Given the description of an element on the screen output the (x, y) to click on. 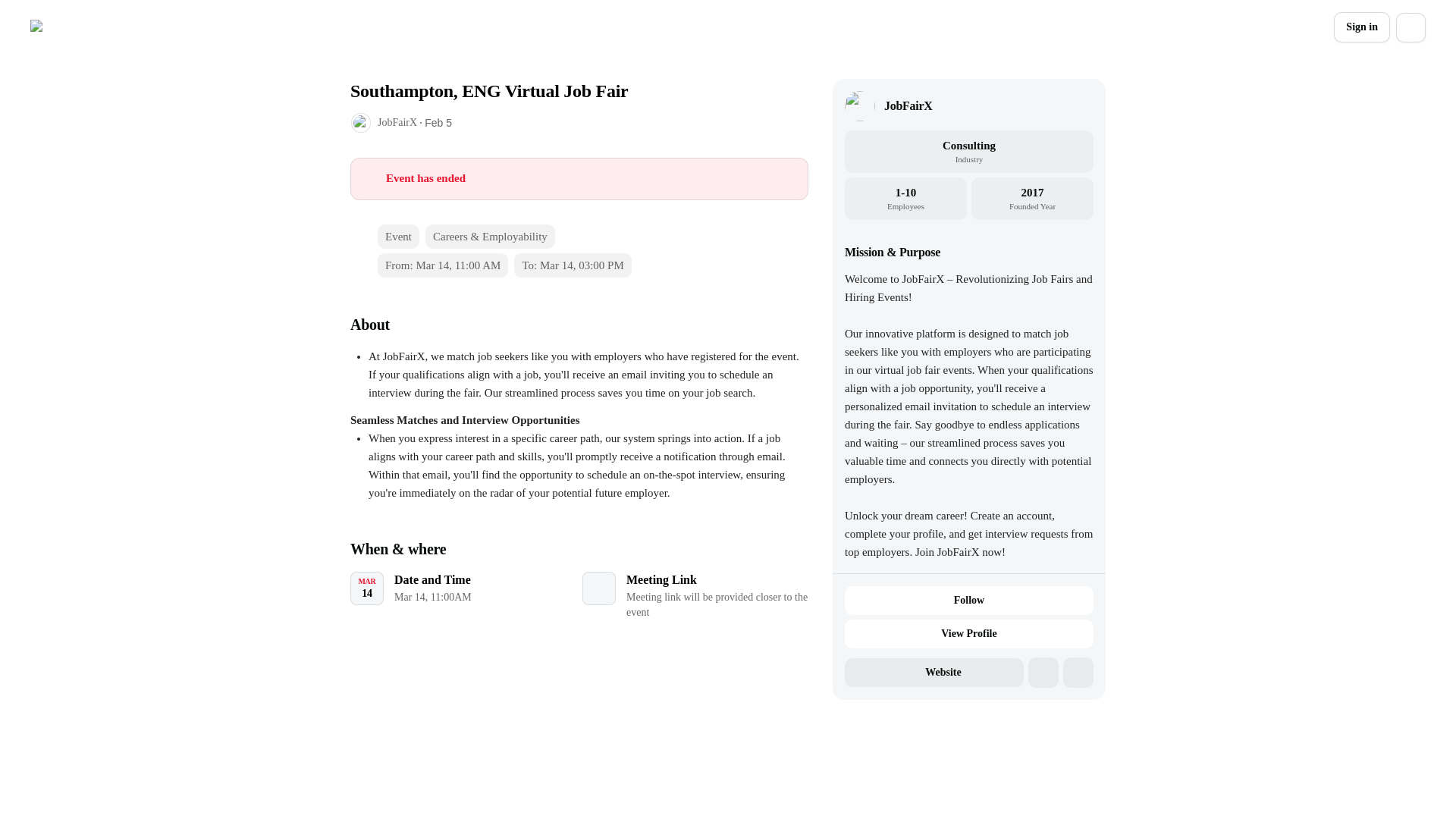
Follow (968, 600)
JobFairX (908, 105)
Sign in (1361, 27)
Website (933, 672)
JobFairX (396, 122)
View Profile (968, 633)
